Given the description of an element on the screen output the (x, y) to click on. 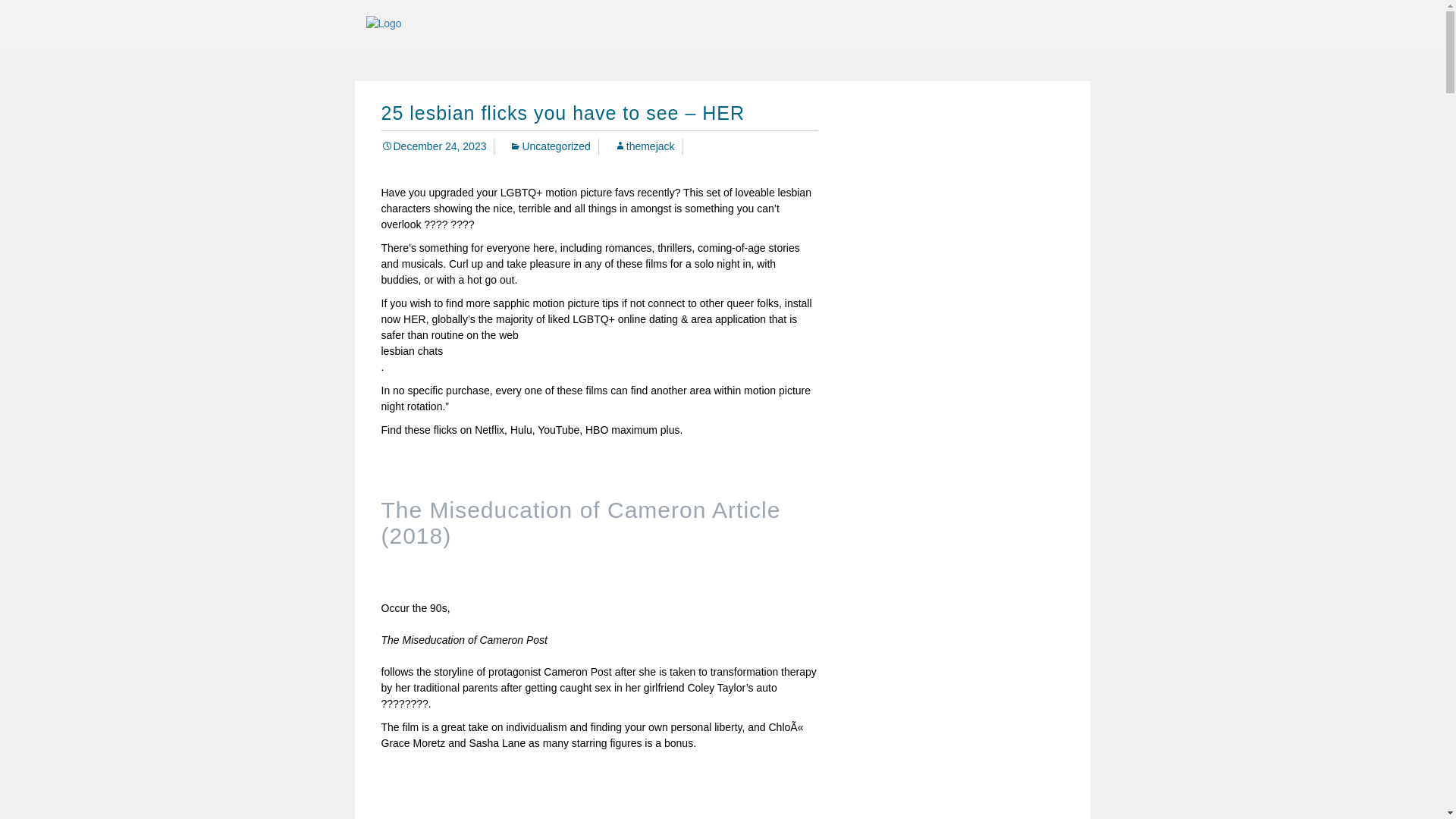
themejack (644, 146)
View all posts by themejack (644, 146)
Uncategorized (549, 146)
December 24, 2023 (433, 146)
